Given the description of an element on the screen output the (x, y) to click on. 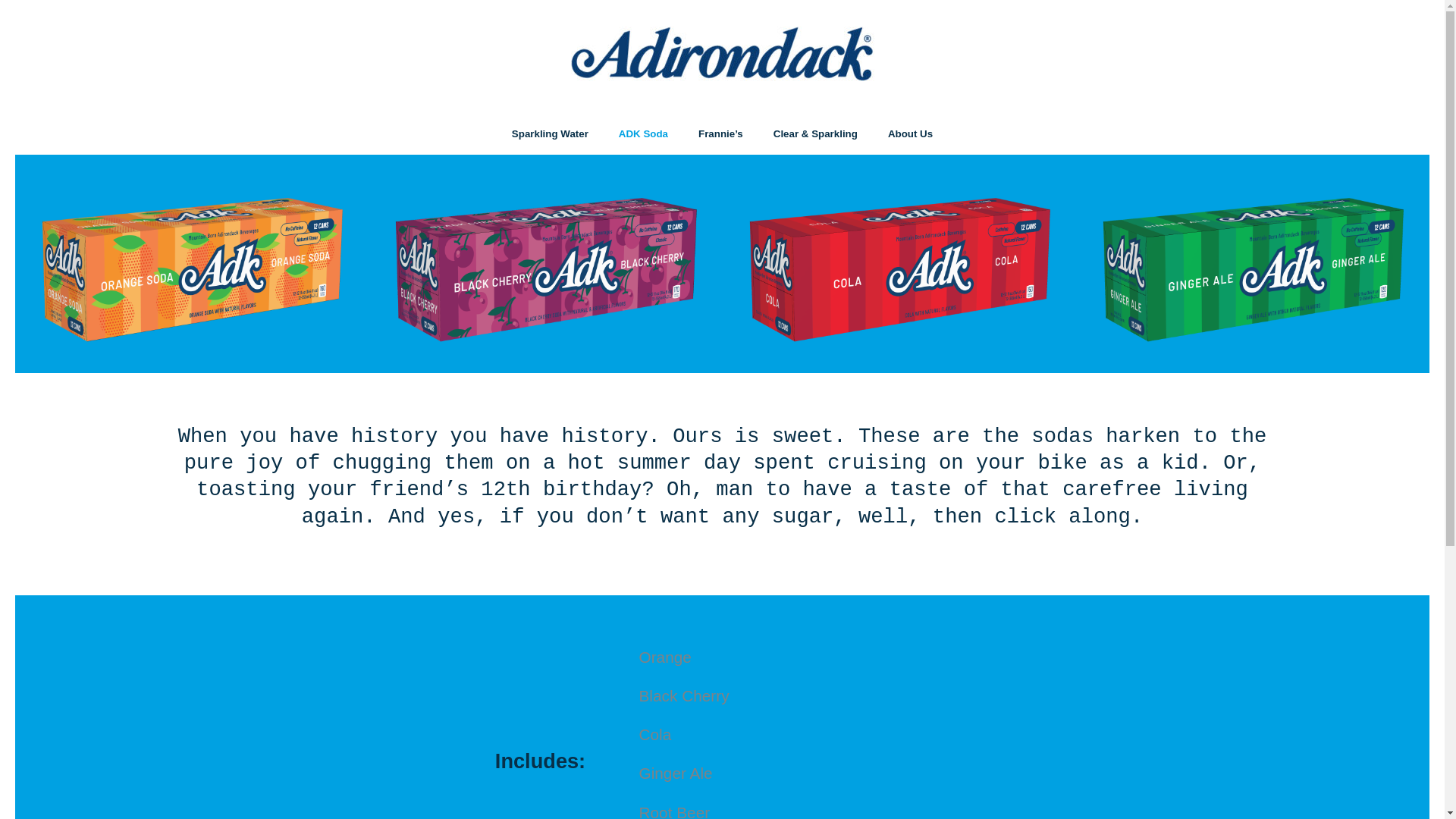
Sparkling Water (550, 133)
About Us (909, 133)
ADK Soda (643, 133)
